Given the description of an element on the screen output the (x, y) to click on. 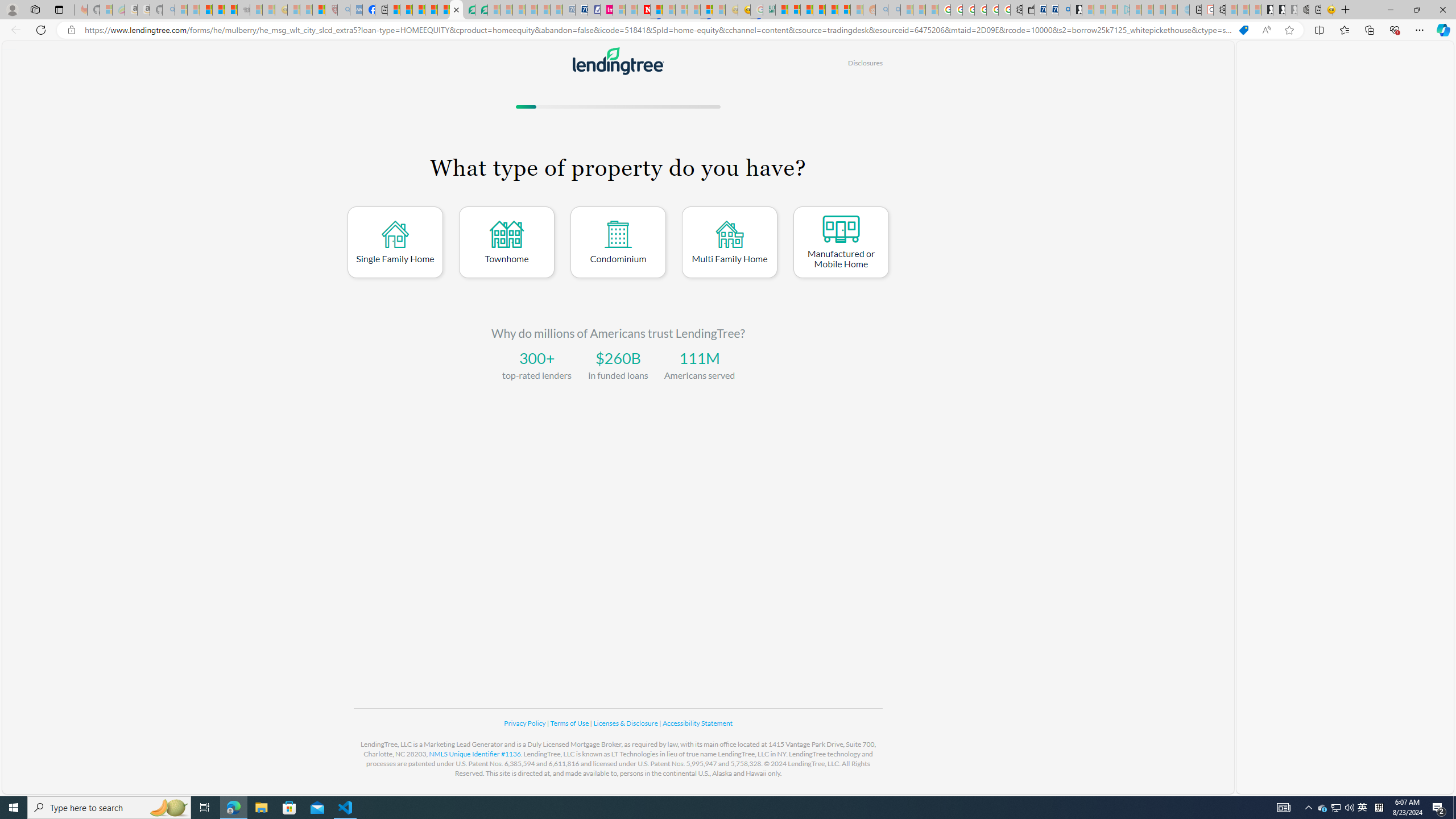
LendingTree - Compare Lenders (456, 9)
Cheap Car Rentals - Save70.com (1051, 9)
Licenses & Disclosure  (625, 723)
Accessibility Statement (697, 723)
